Given the description of an element on the screen output the (x, y) to click on. 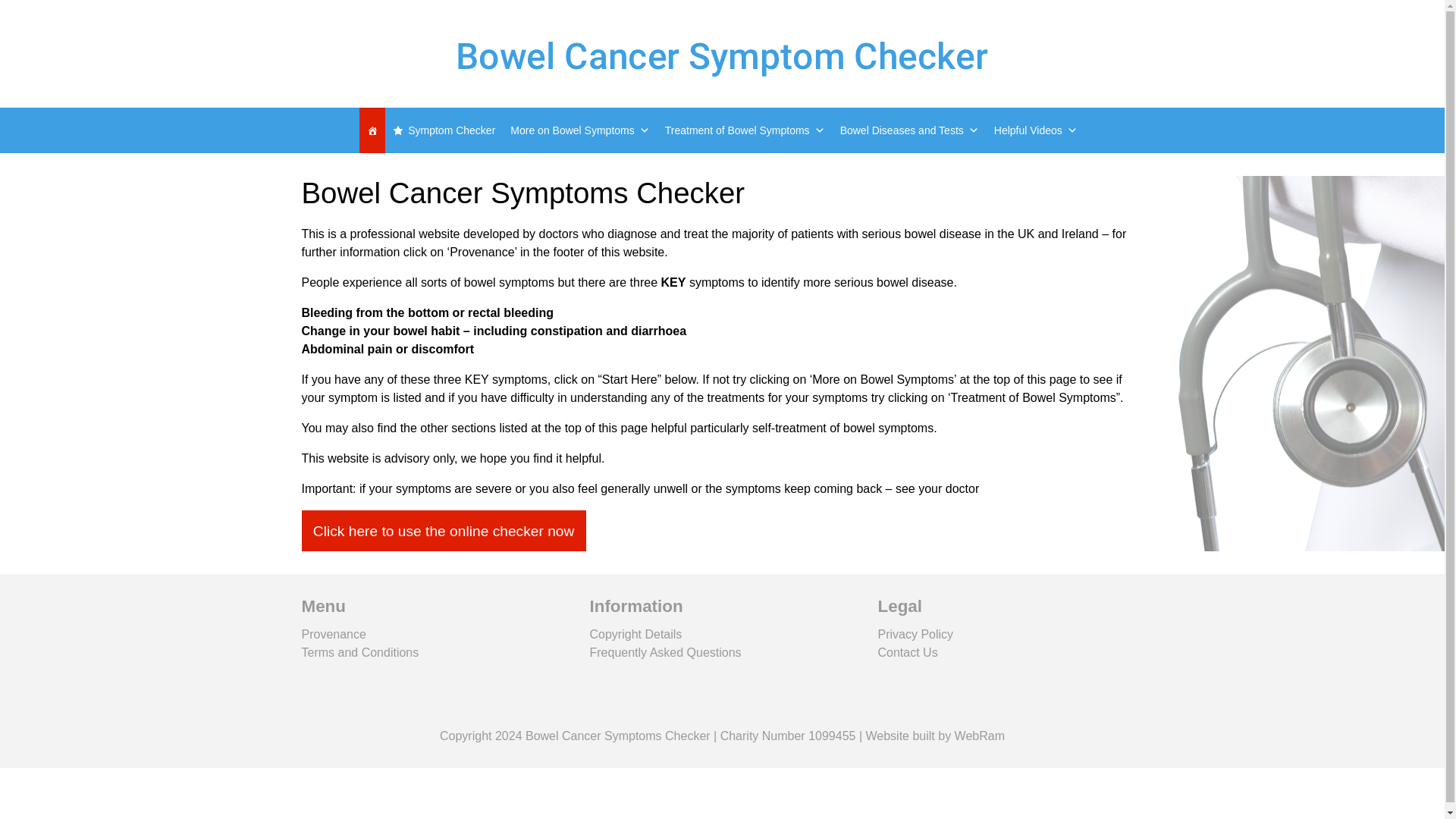
Symptom Checker (443, 130)
Treatment of Bowel Symptoms (745, 130)
More on Bowel Symptoms (579, 130)
